Given the description of an element on the screen output the (x, y) to click on. 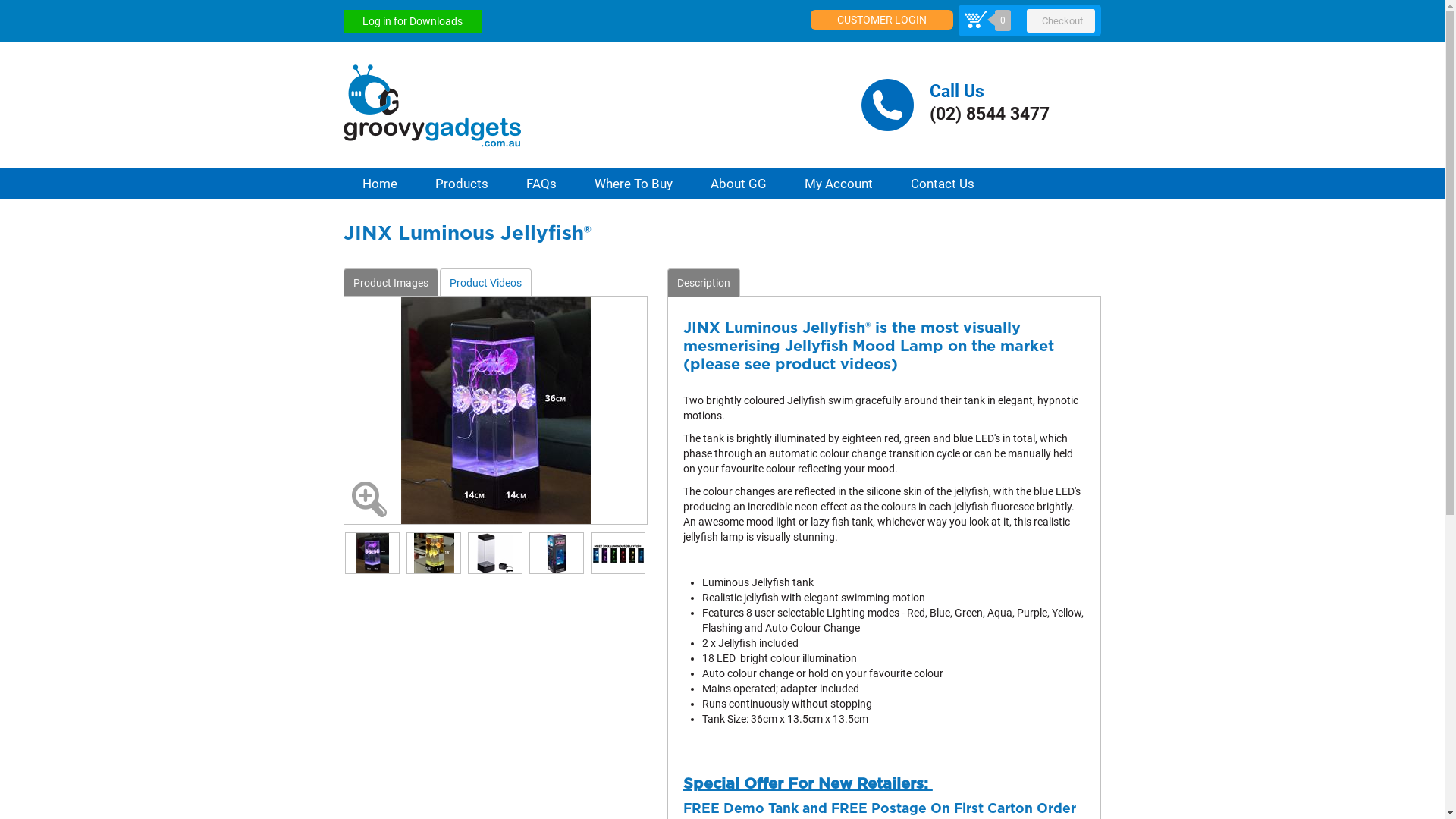
Product Videos Element type: text (485, 282)
Groovy Gadgets Wholesale Element type: hover (431, 105)
Where To Buy Element type: text (632, 183)
About GG Element type: text (738, 183)
Contact Us Element type: text (942, 183)
Home Element type: text (378, 183)
Product Images Element type: text (389, 282)
Products Element type: text (460, 183)
My Account Element type: text (838, 183)
Log in for Downloads Element type: text (411, 20)
Description Element type: text (703, 282)
FAQs Element type: text (540, 183)
Groovy Gadgets Wholesale Element type: hover (591, 104)
Call us on (02) 8544 3477 Element type: hover (981, 104)
Click to View Images Element type: hover (367, 499)
